Given the description of an element on the screen output the (x, y) to click on. 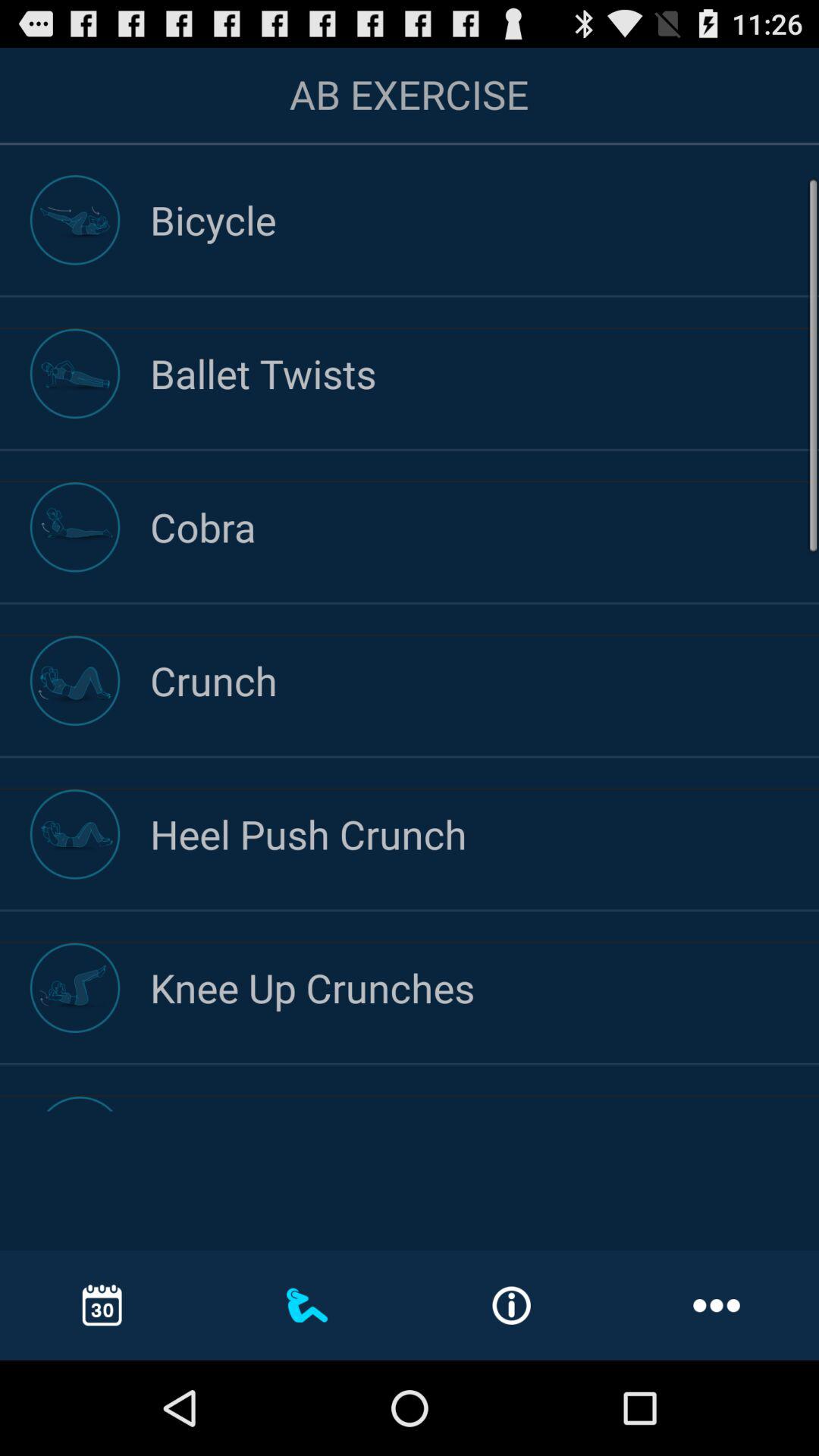
flip until the knee up crunches (484, 987)
